Given the description of an element on the screen output the (x, y) to click on. 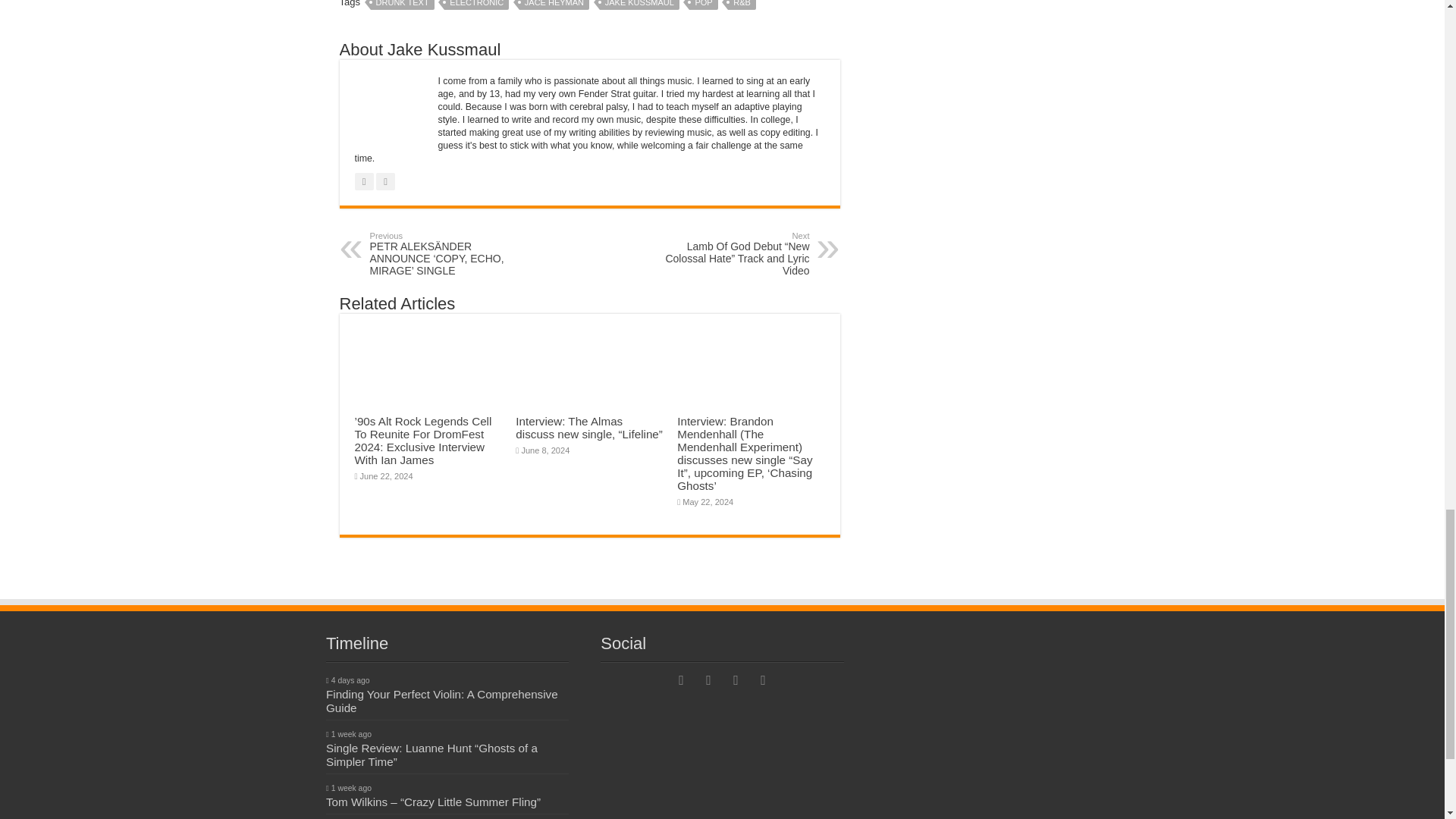
ELECTRONIC (476, 4)
JAKE KUSSMAUL (639, 4)
POP (702, 4)
DRUNK TEXT (402, 4)
JACE HEYMAN (554, 4)
